Given the description of an element on the screen output the (x, y) to click on. 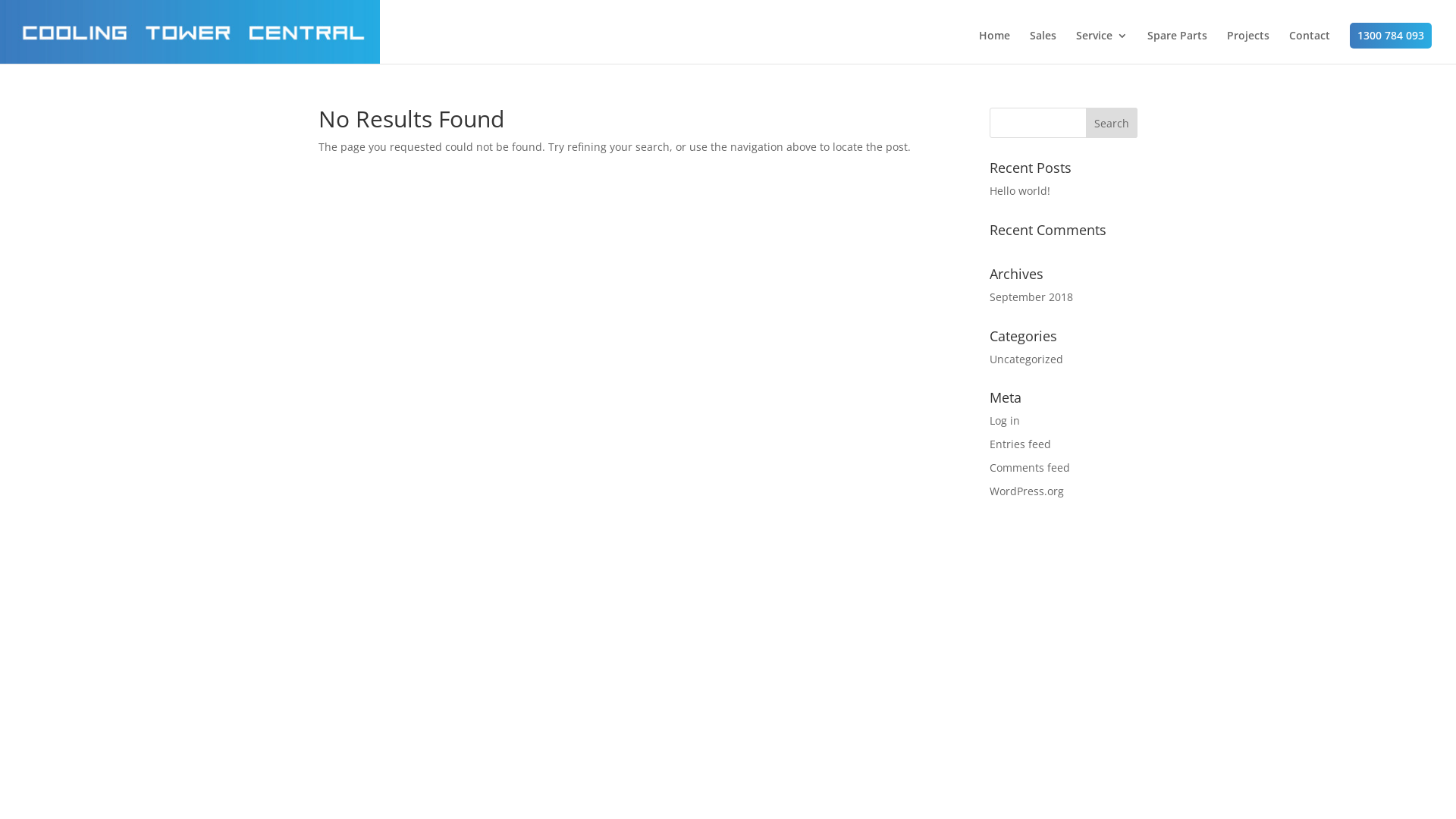
Comments feed Element type: text (1029, 467)
Service Element type: text (1101, 46)
Log in Element type: text (1004, 420)
Contact Element type: text (1309, 46)
Spare Parts Element type: text (1177, 46)
Projects Element type: text (1247, 46)
Search Element type: text (1111, 122)
WordPress.org Element type: text (1026, 490)
1300 784 093 Element type: text (1390, 35)
Hello world! Element type: text (1019, 190)
Uncategorized Element type: text (1026, 358)
Entries feed Element type: text (1020, 443)
Sales Element type: text (1042, 46)
September 2018 Element type: text (1031, 296)
Home Element type: text (994, 46)
